Given the description of an element on the screen output the (x, y) to click on. 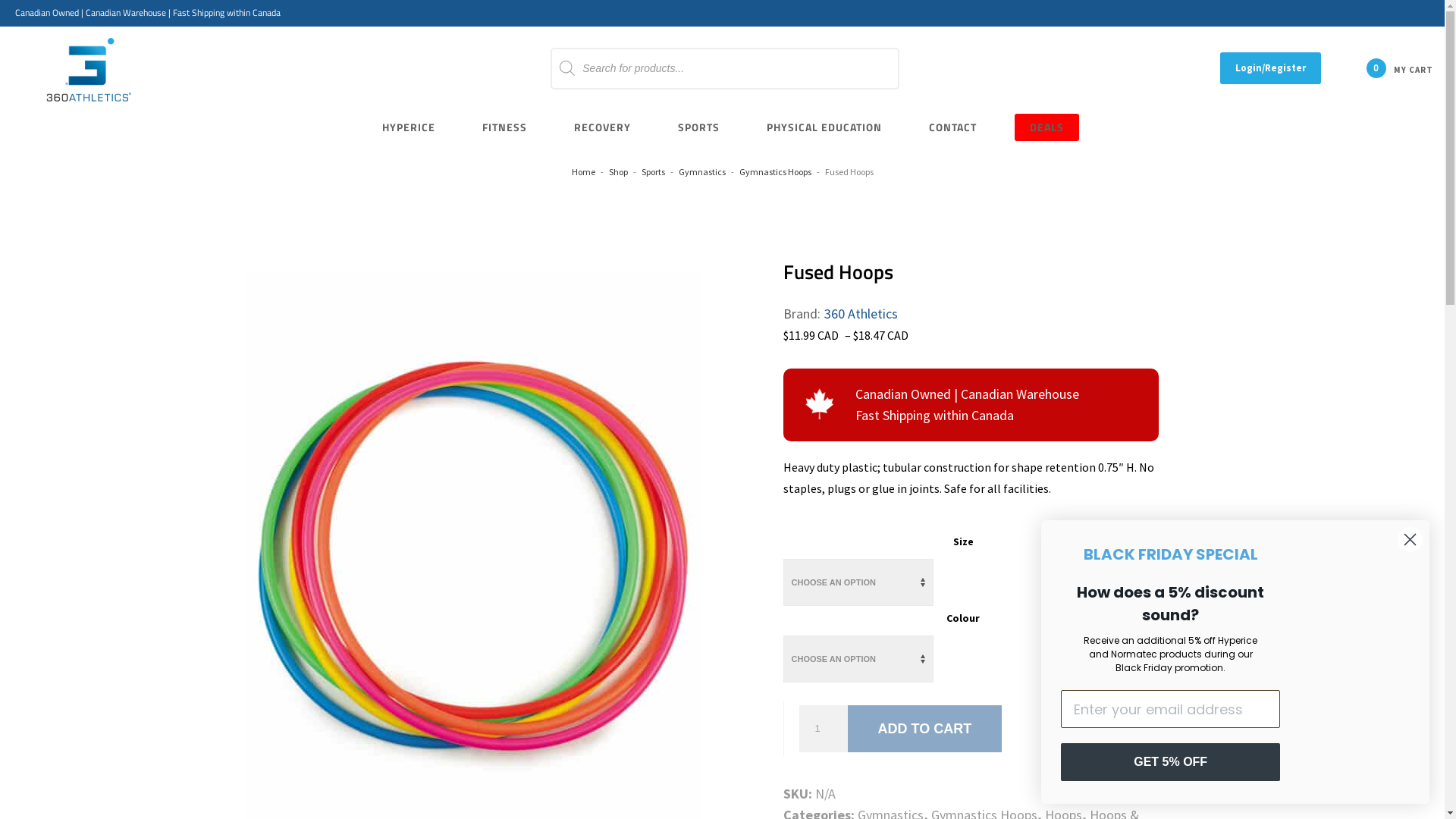
SPORTS Element type: text (698, 127)
FITNESS Element type: text (504, 127)
Gymnastics Element type: text (700, 171)
Home Element type: text (583, 171)
HYPERICE Element type: text (408, 127)
ADD TO CART Element type: text (924, 728)
GET 5% OFF Element type: text (1170, 762)
Shop Element type: text (617, 171)
CONTACT Element type: text (952, 127)
Qty Element type: hover (823, 728)
PHYSICAL EDUCATION Element type: text (823, 127)
MY CART Element type: text (1395, 68)
Fitness Equipment for Training and Conditioning Element type: hover (88, 71)
Gymnastics Hoops Element type: text (774, 171)
RECOVERY Element type: text (601, 127)
Login/Register Element type: text (1270, 67)
Sports Element type: text (653, 171)
360 Athletics Element type: text (860, 313)
Submit Element type: text (25, 9)
DEALS Element type: text (1046, 127)
